Given the description of an element on the screen output the (x, y) to click on. 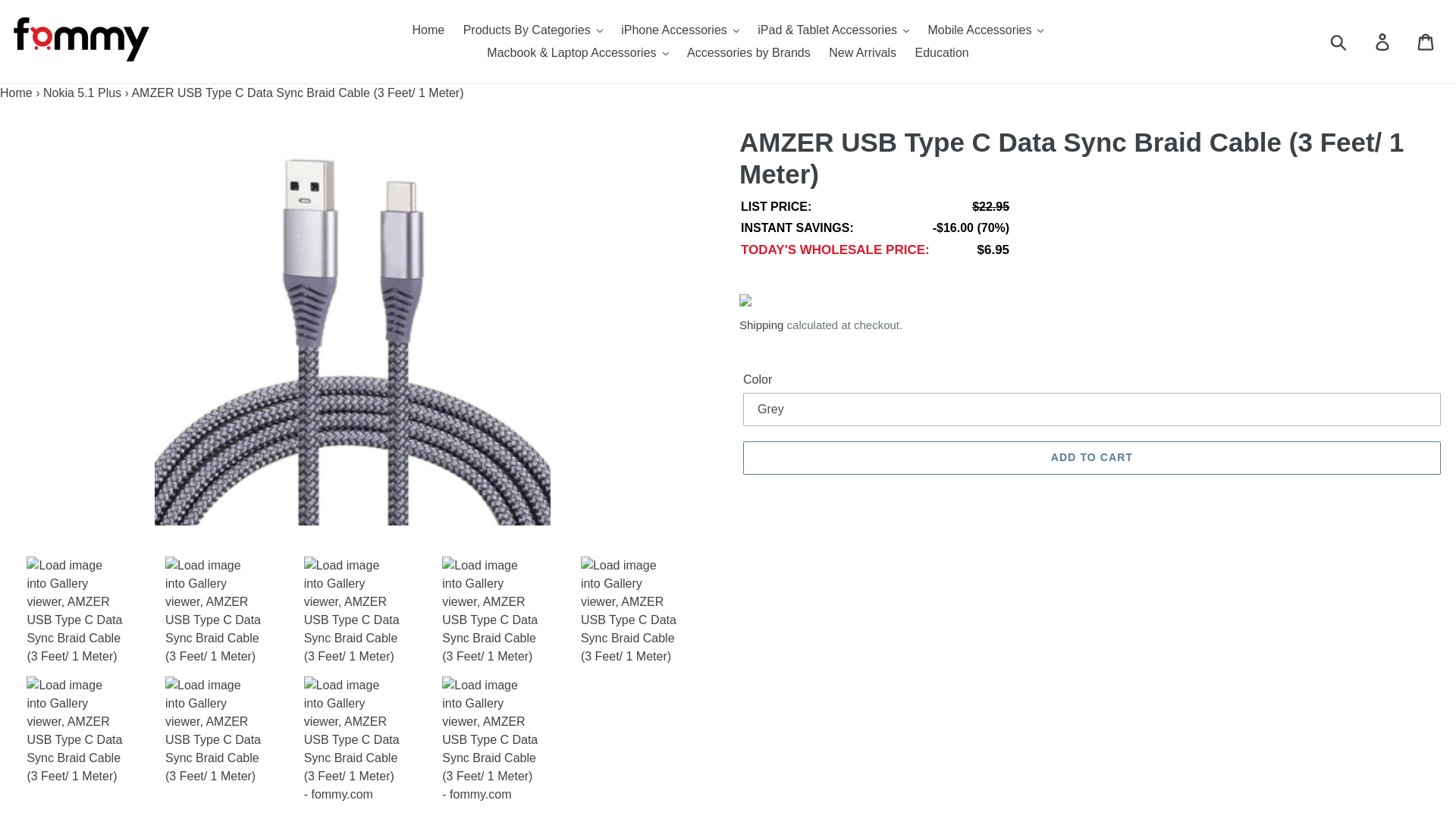
Home (16, 92)
Home (428, 29)
